Given the description of an element on the screen output the (x, y) to click on. 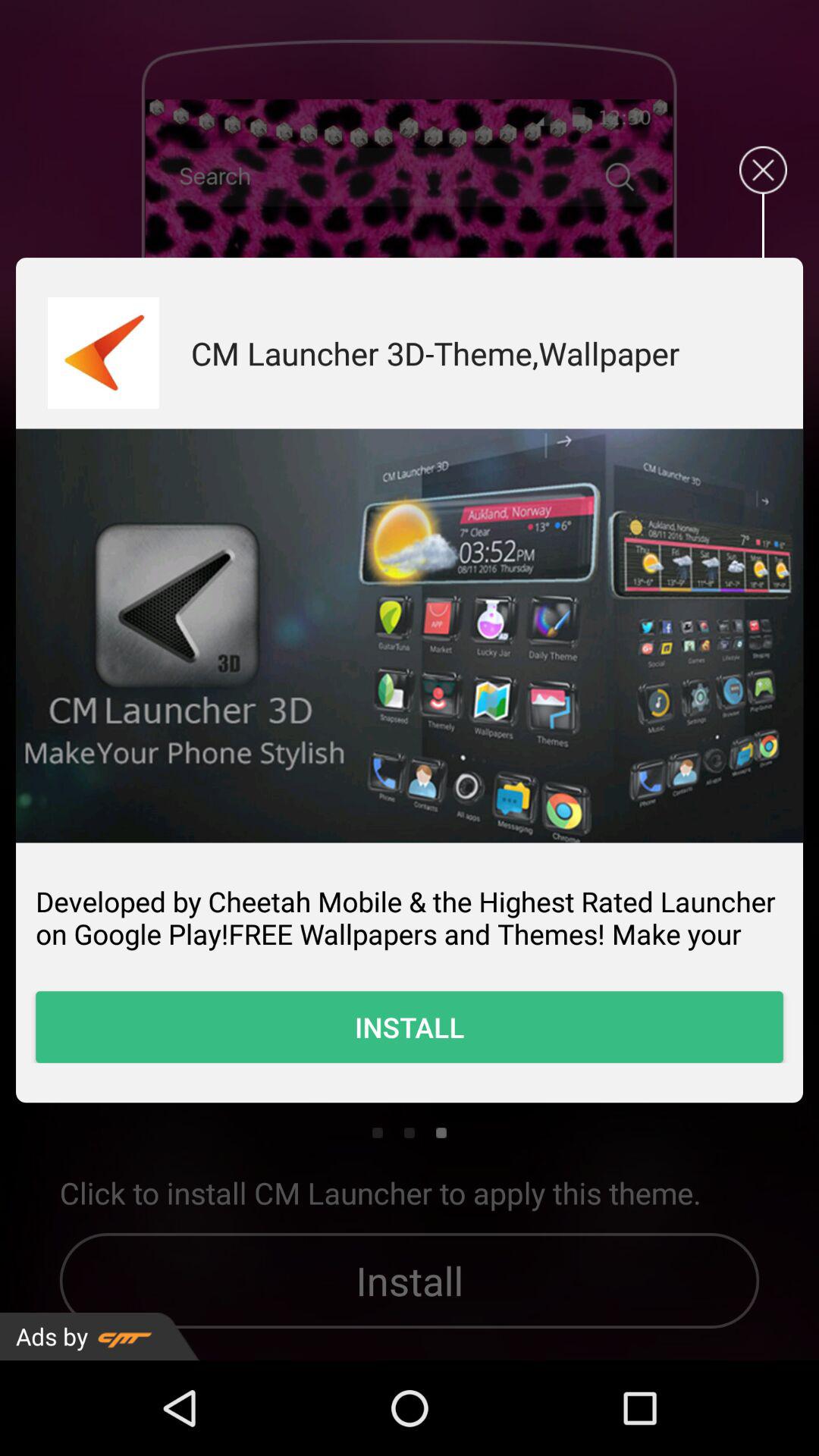
download it (103, 352)
